Given the description of an element on the screen output the (x, y) to click on. 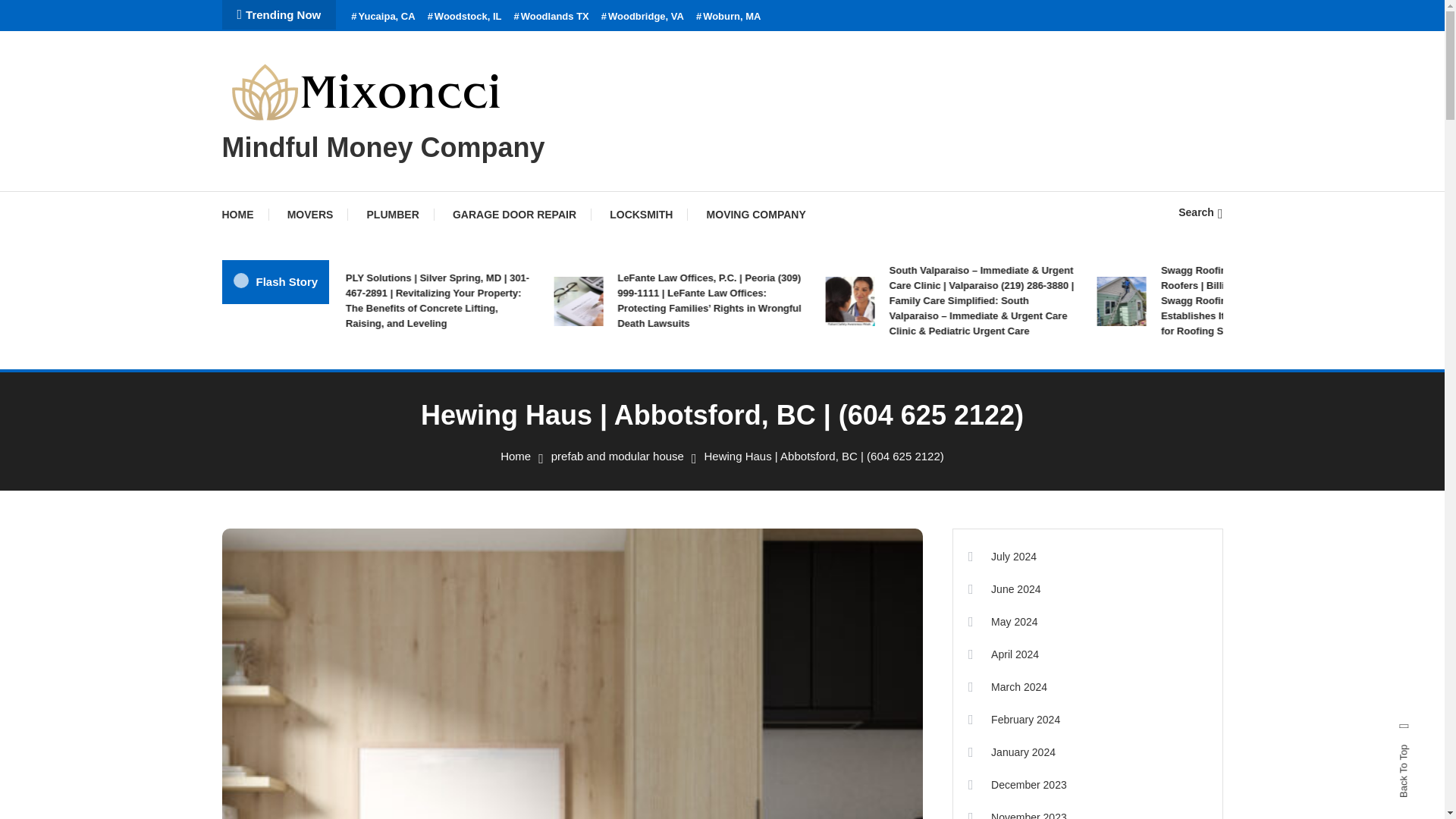
PLUMBER (392, 214)
Woburn, MA (728, 16)
Search (768, 434)
LOCKSMITH (640, 214)
MOVING COMPANY (756, 214)
Woodstock, IL (465, 16)
MOVERS (310, 214)
HOME (244, 214)
GARAGE DOOR REPAIR (514, 214)
Yucaipa, CA (382, 16)
prefab and modular house (617, 455)
Home (515, 455)
Woodbridge, VA (642, 16)
Mindful Money Company (382, 146)
Search (1200, 212)
